Given the description of an element on the screen output the (x, y) to click on. 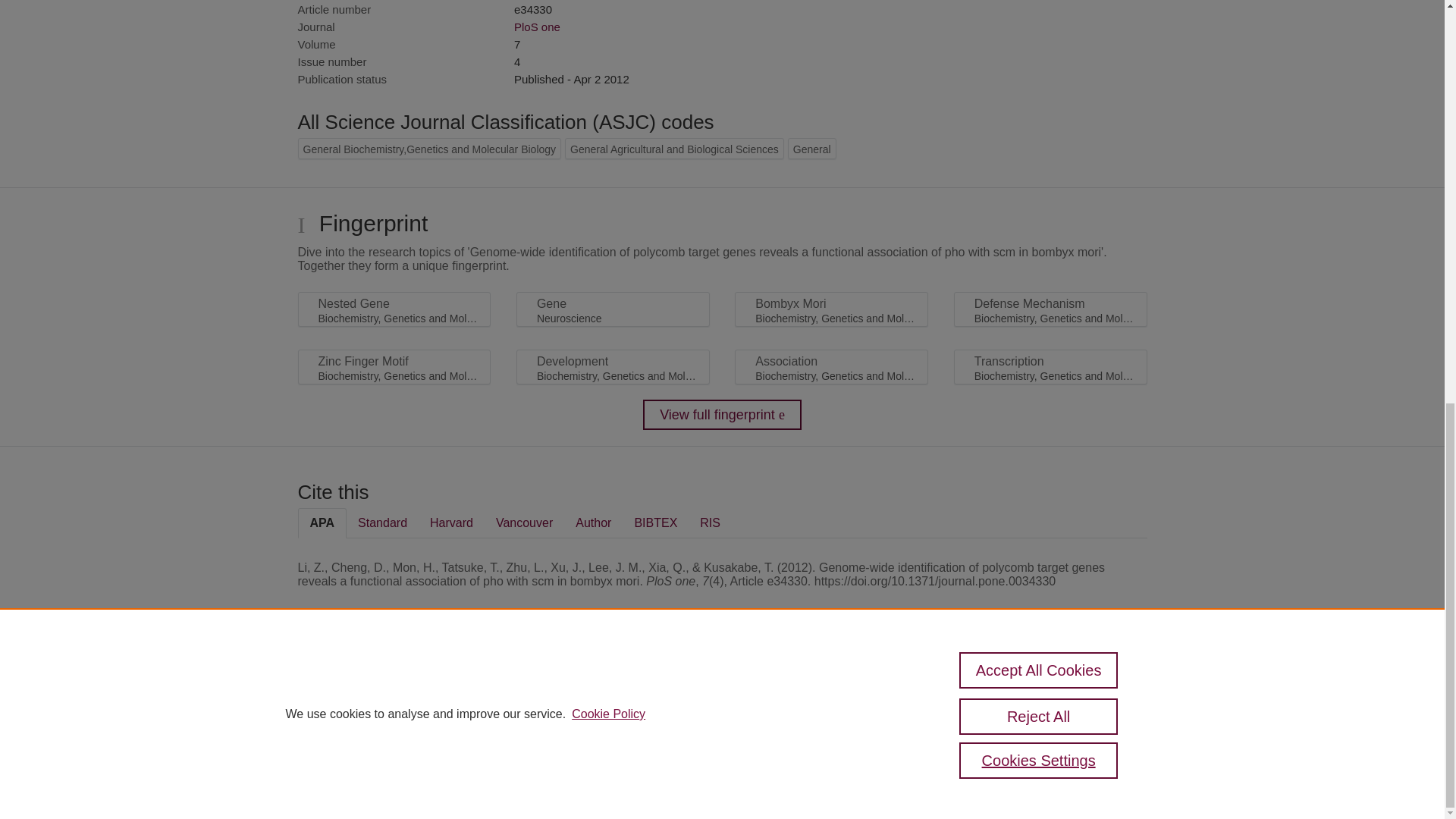
PloS one (536, 26)
View full fingerprint (722, 414)
Pure (362, 686)
